Given the description of an element on the screen output the (x, y) to click on. 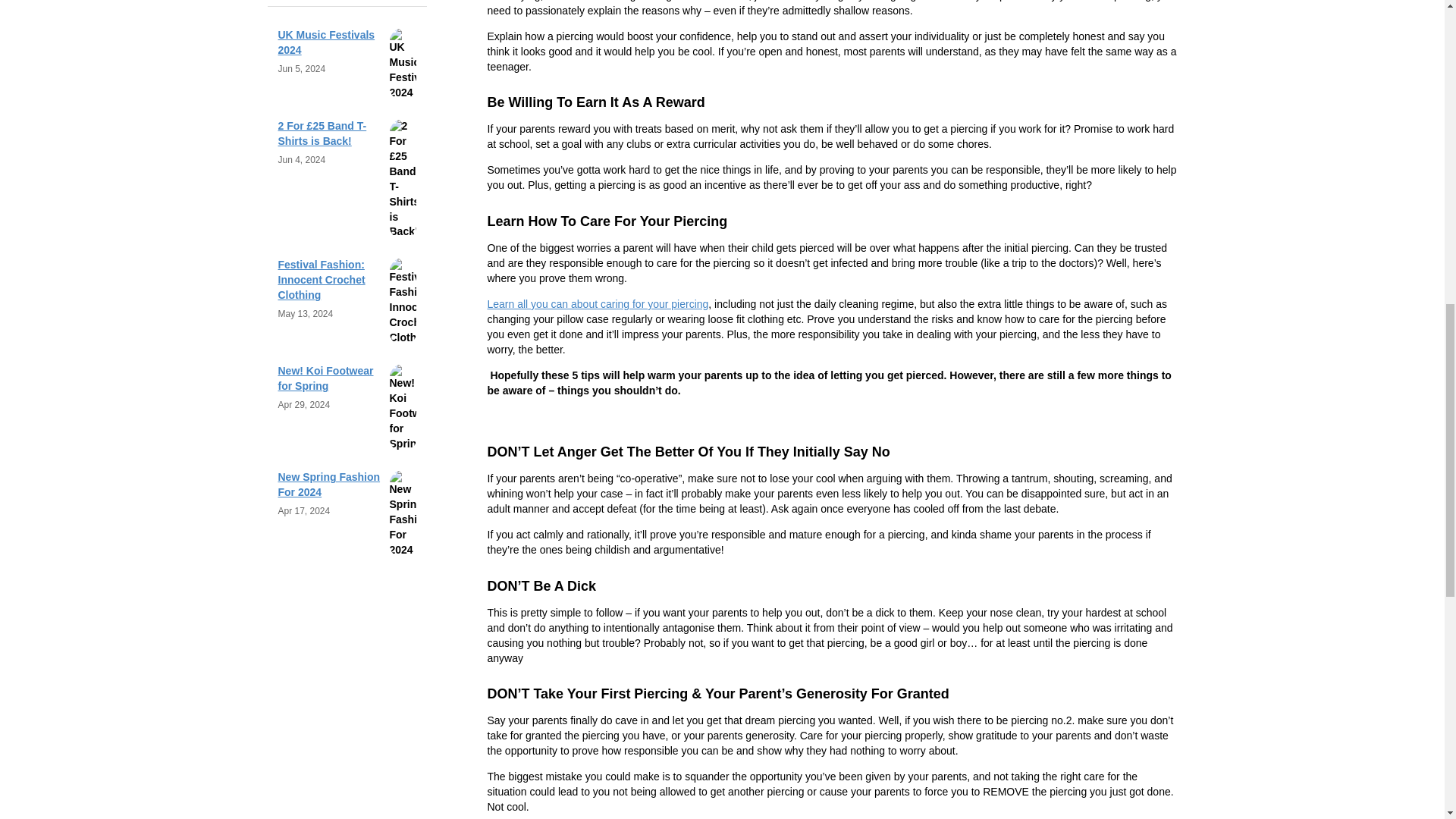
UK Music Festivals 2024 (326, 42)
New Spring Fashion For 2024 (329, 483)
Learn all you can about caring for your piercing (596, 304)
Festival Fashion: Innocent Crochet Clothing (321, 279)
New! Koi Footwear for Spring (325, 378)
